Given the description of an element on the screen output the (x, y) to click on. 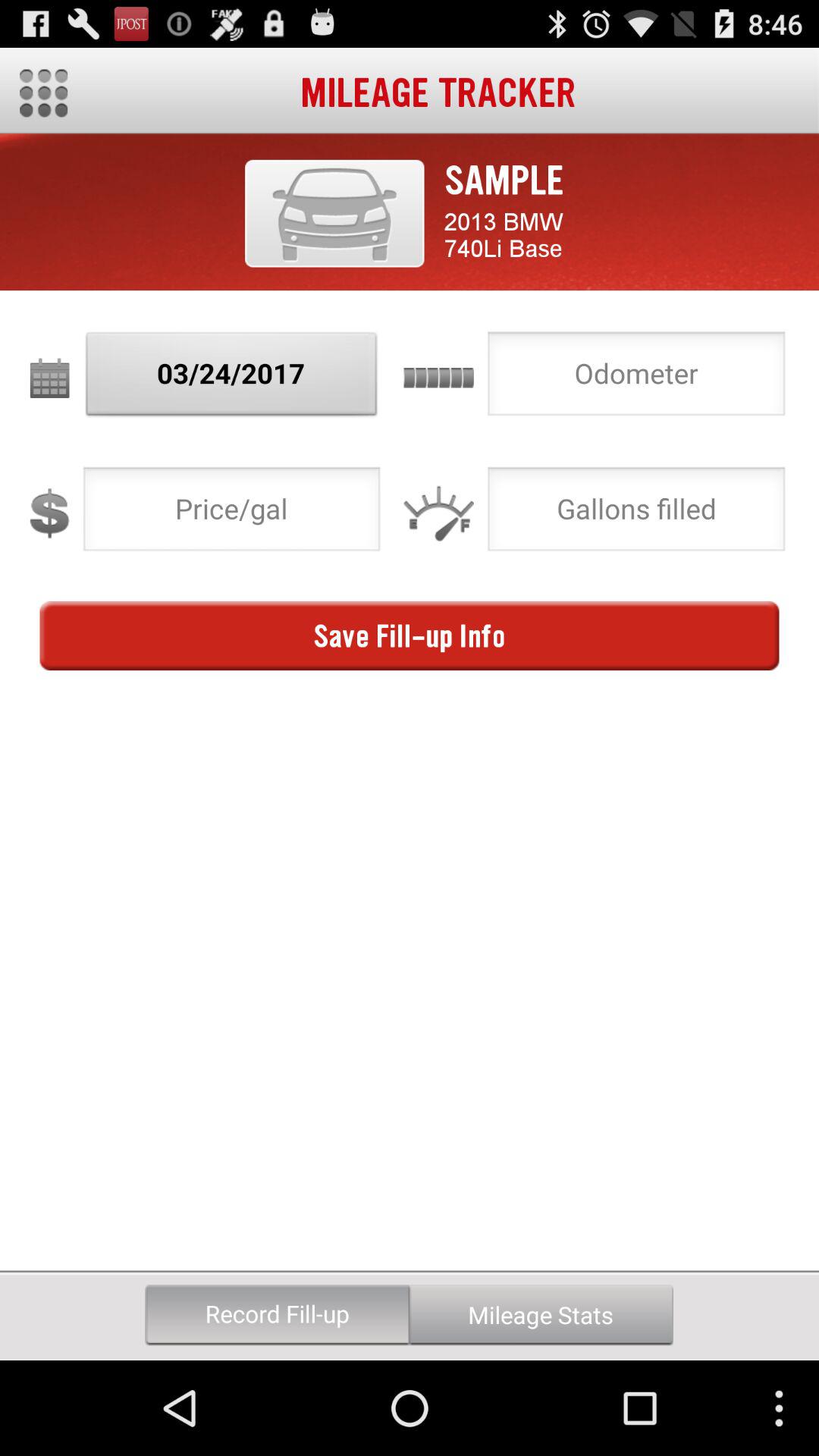
enter price per gallon (231, 513)
